Given the description of an element on the screen output the (x, y) to click on. 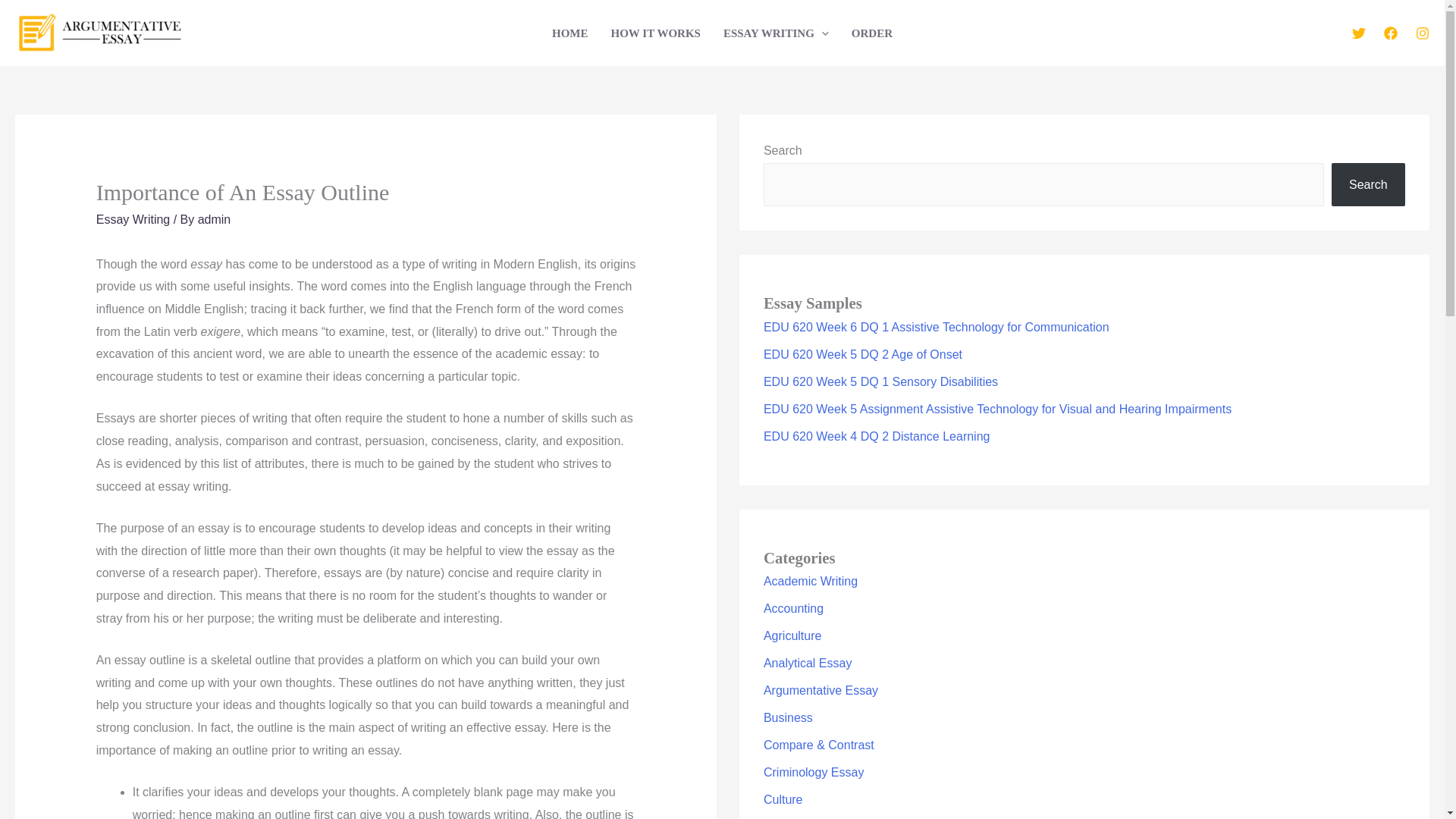
Essay Writing (133, 219)
EDU 620 Week 5 DQ 1 Sensory Disabilities (879, 381)
Accounting (793, 608)
Argumentative Essay (819, 689)
ORDER (872, 31)
Academic Writing (809, 581)
Agriculture (791, 635)
View all posts by admin (214, 219)
Criminology Essay (812, 771)
EDU 620 Week 4 DQ 2 Distance Learning (876, 436)
Search (1368, 184)
EDU 620 Week 6 DQ 1 Assistive Technology for Communication (935, 327)
admin (214, 219)
ESSAY WRITING (775, 31)
HOME (569, 31)
